Given the description of an element on the screen output the (x, y) to click on. 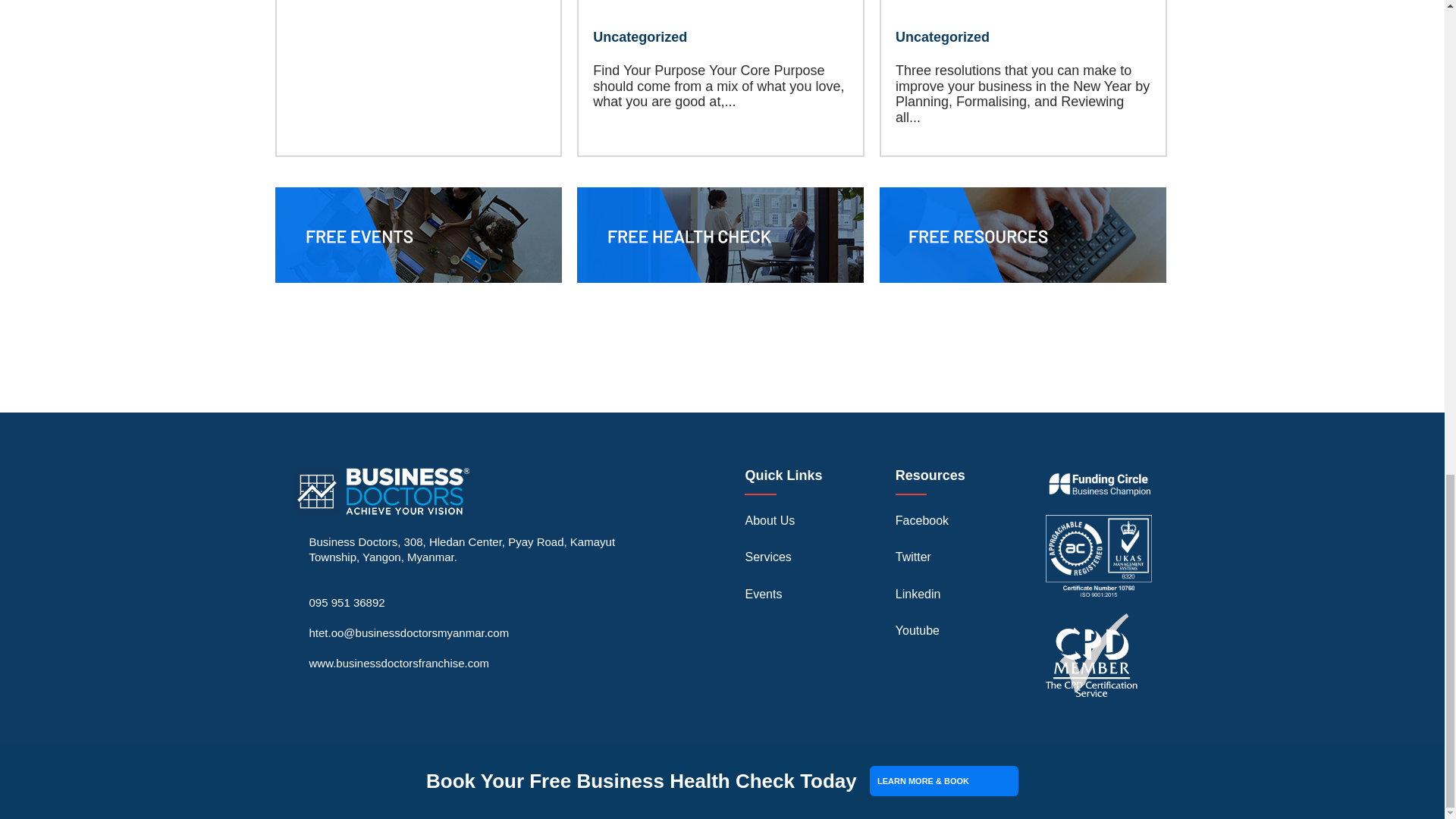
call us on 095 951 36892 (346, 602)
